Given the description of an element on the screen output the (x, y) to click on. 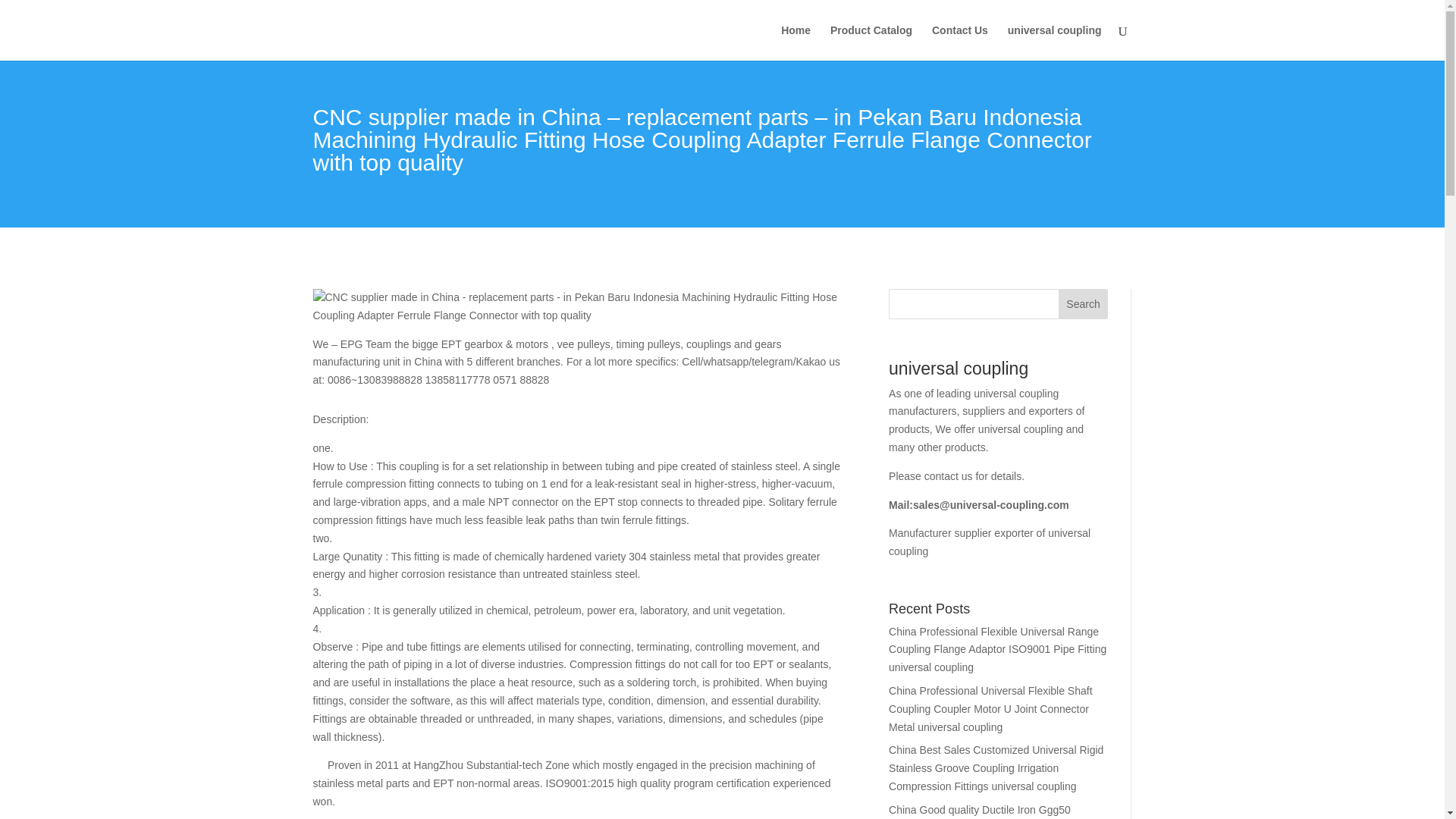
Home (795, 42)
universal coupling (1054, 42)
Search (1083, 304)
Product Catalog (870, 42)
Contact Us (959, 42)
Search (1083, 304)
